Given the description of an element on the screen output the (x, y) to click on. 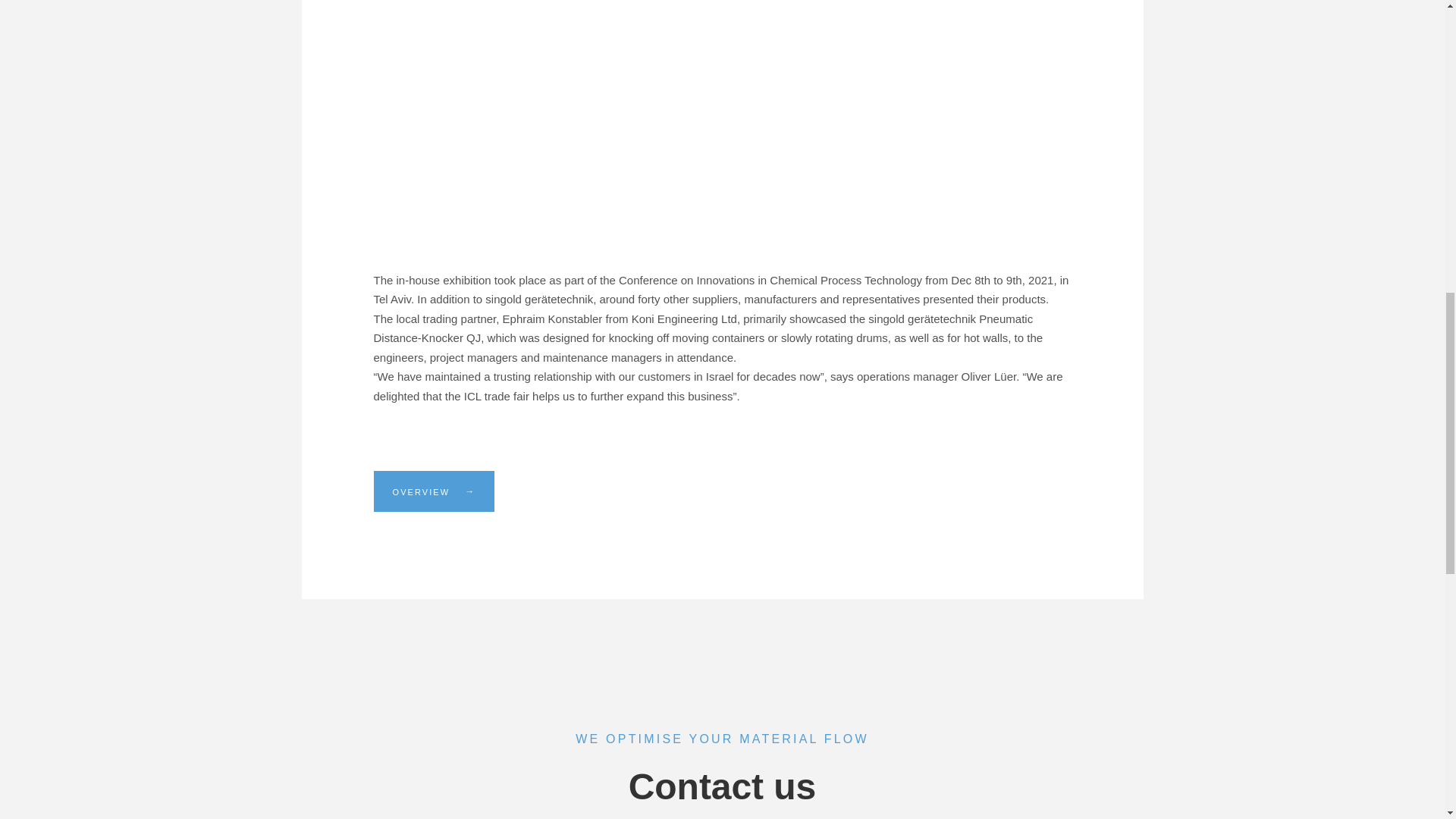
overview (433, 490)
OVERVIEW (433, 490)
